Given the description of an element on the screen output the (x, y) to click on. 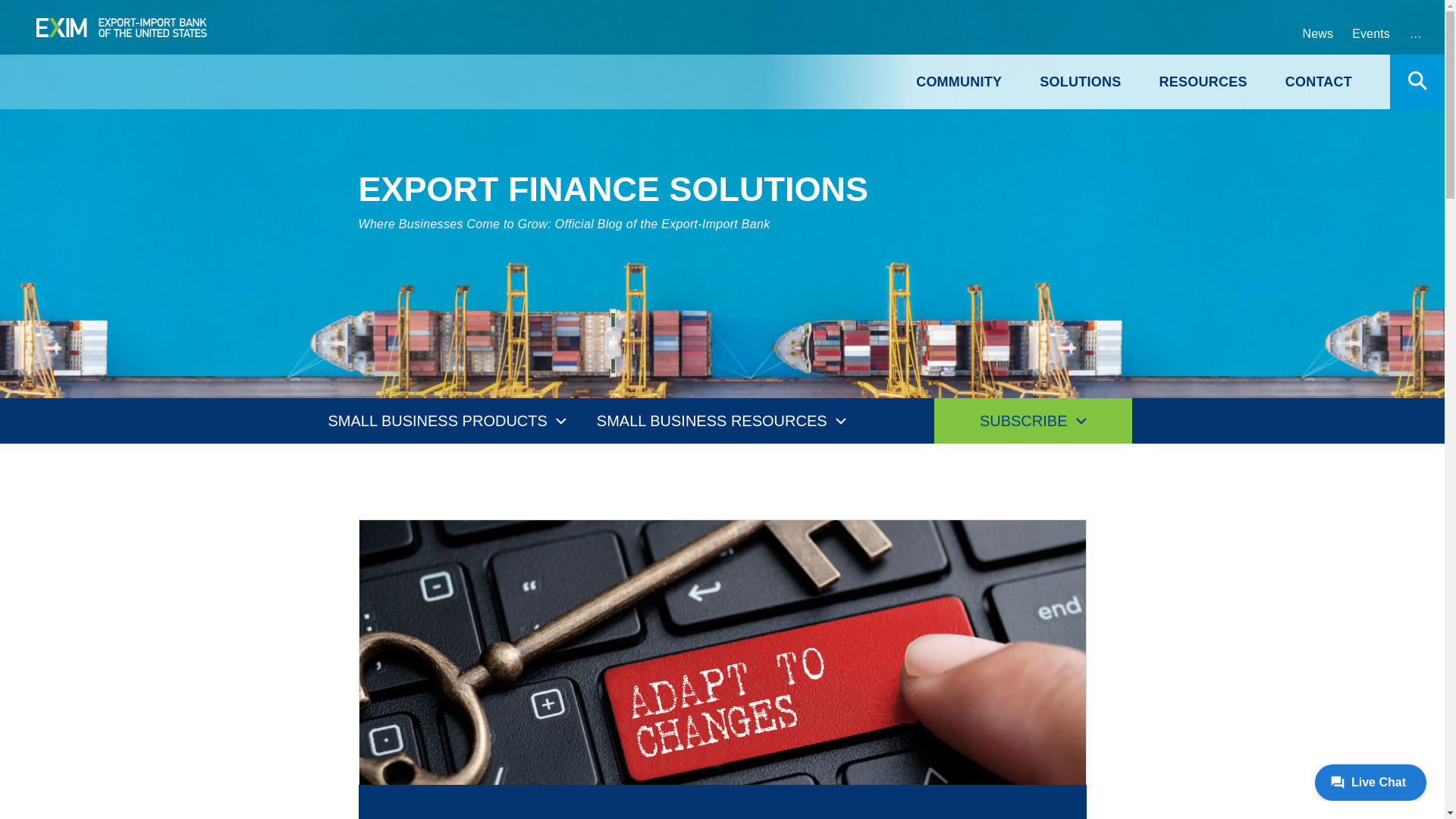
RESOURCES (1202, 81)
Events (1371, 33)
EXIM: Export-Import Bank of the United States (121, 27)
News (1317, 33)
COMMUNITY (958, 81)
CONTACT (1318, 81)
SOLUTIONS (1080, 81)
EXIM: Export-Import Bank of the United States (121, 27)
